Given the description of an element on the screen output the (x, y) to click on. 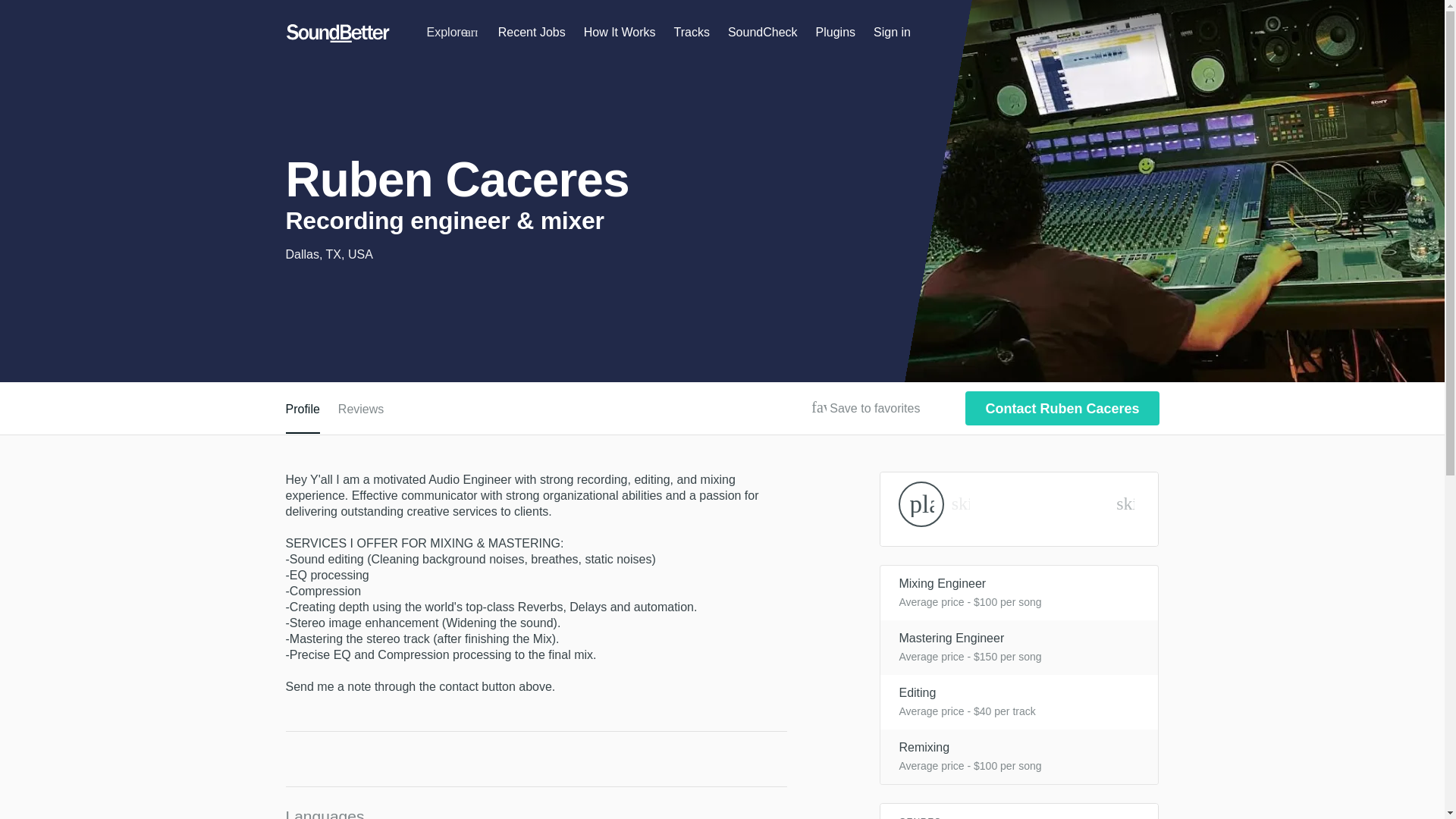
SoundBetter (337, 33)
